Given the description of an element on the screen output the (x, y) to click on. 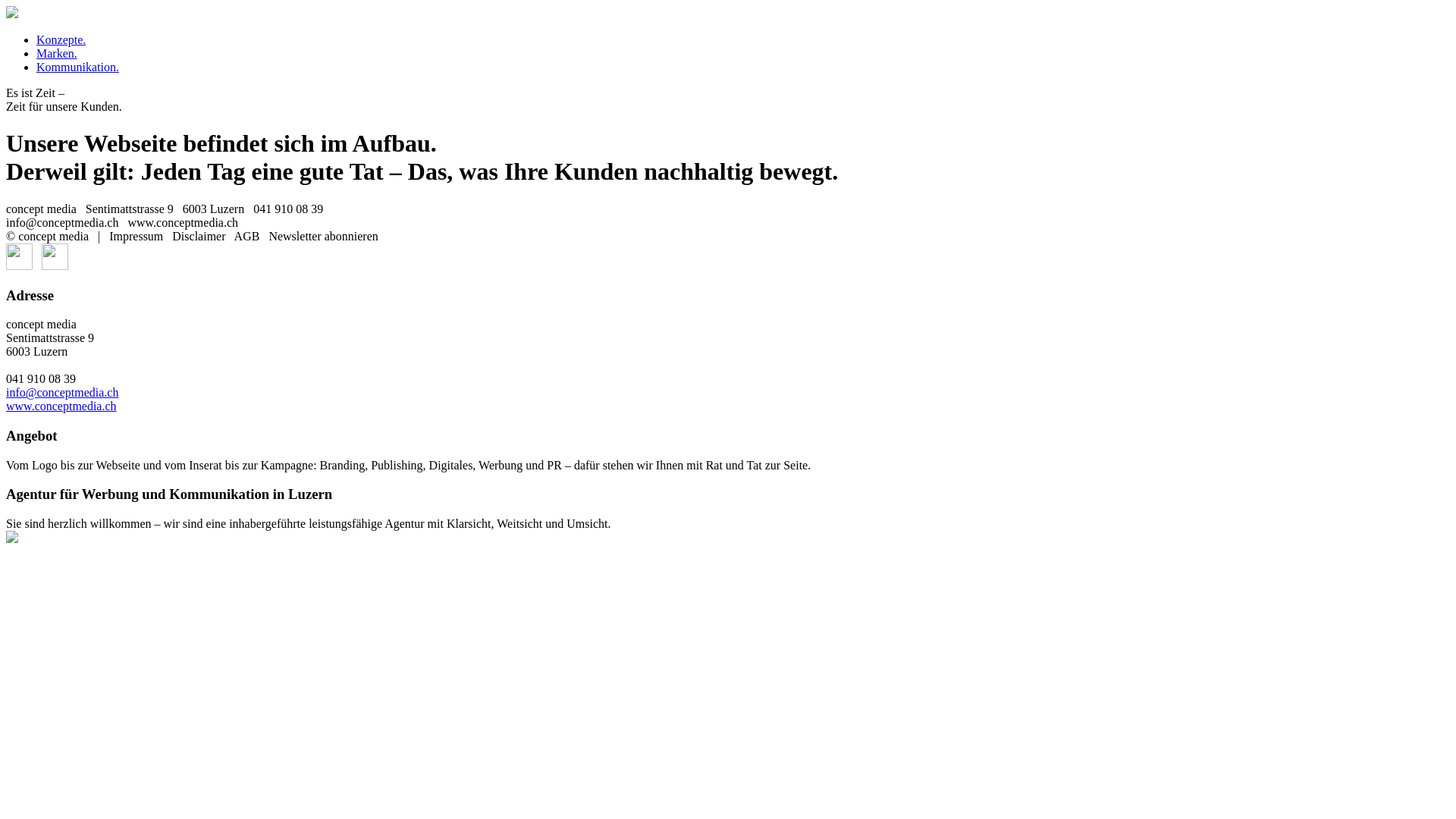
info@conceptmedia.ch Element type: text (62, 391)
Konzepte. Element type: text (60, 39)
Kommunikation. Element type: text (77, 66)
Marken. Element type: text (56, 53)
www.conceptmedia.ch Element type: text (61, 405)
